Given the description of an element on the screen output the (x, y) to click on. 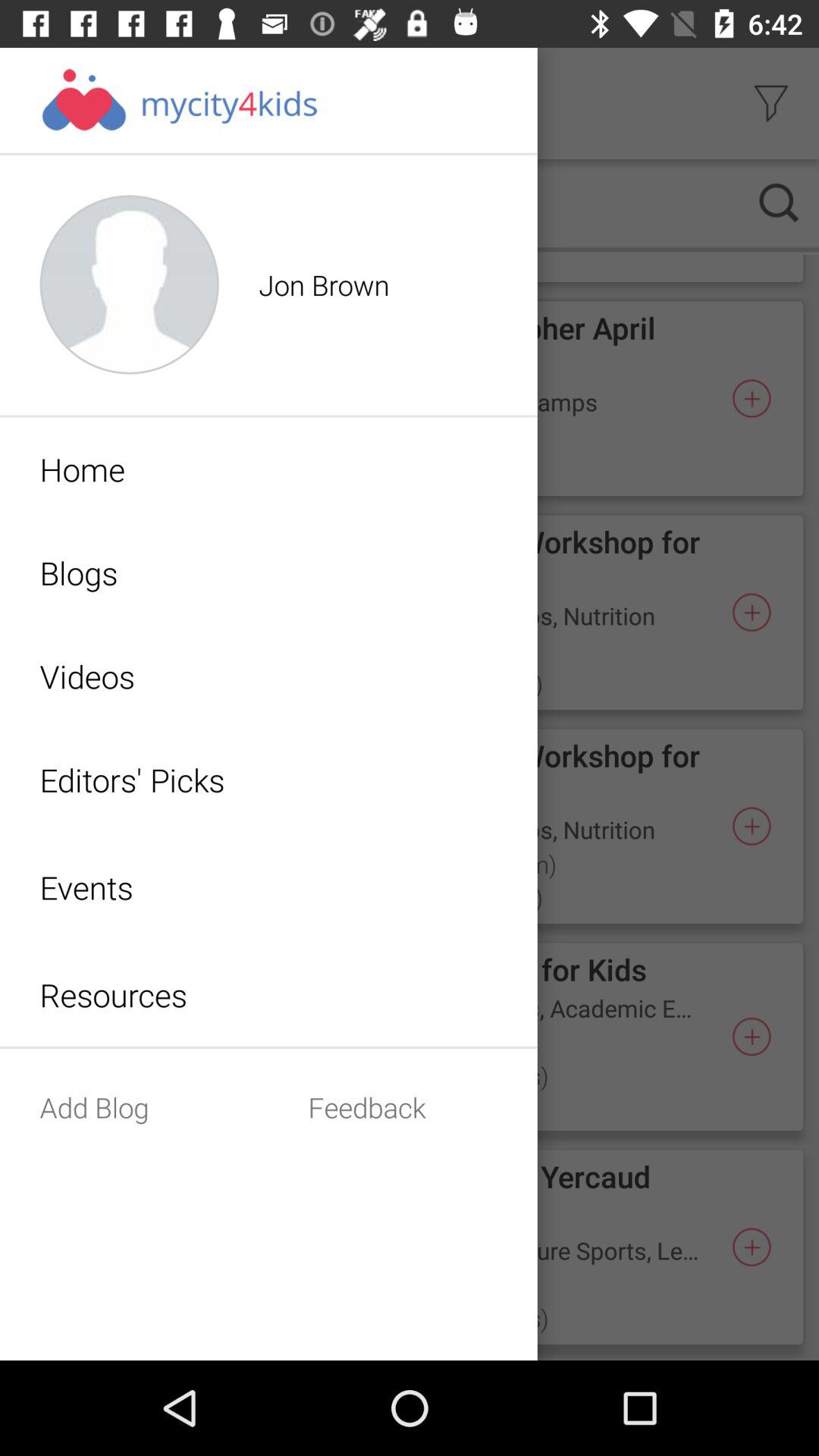
click on filter icon on the top right corner of the page (771, 103)
click on search icon (779, 202)
